Given the description of an element on the screen output the (x, y) to click on. 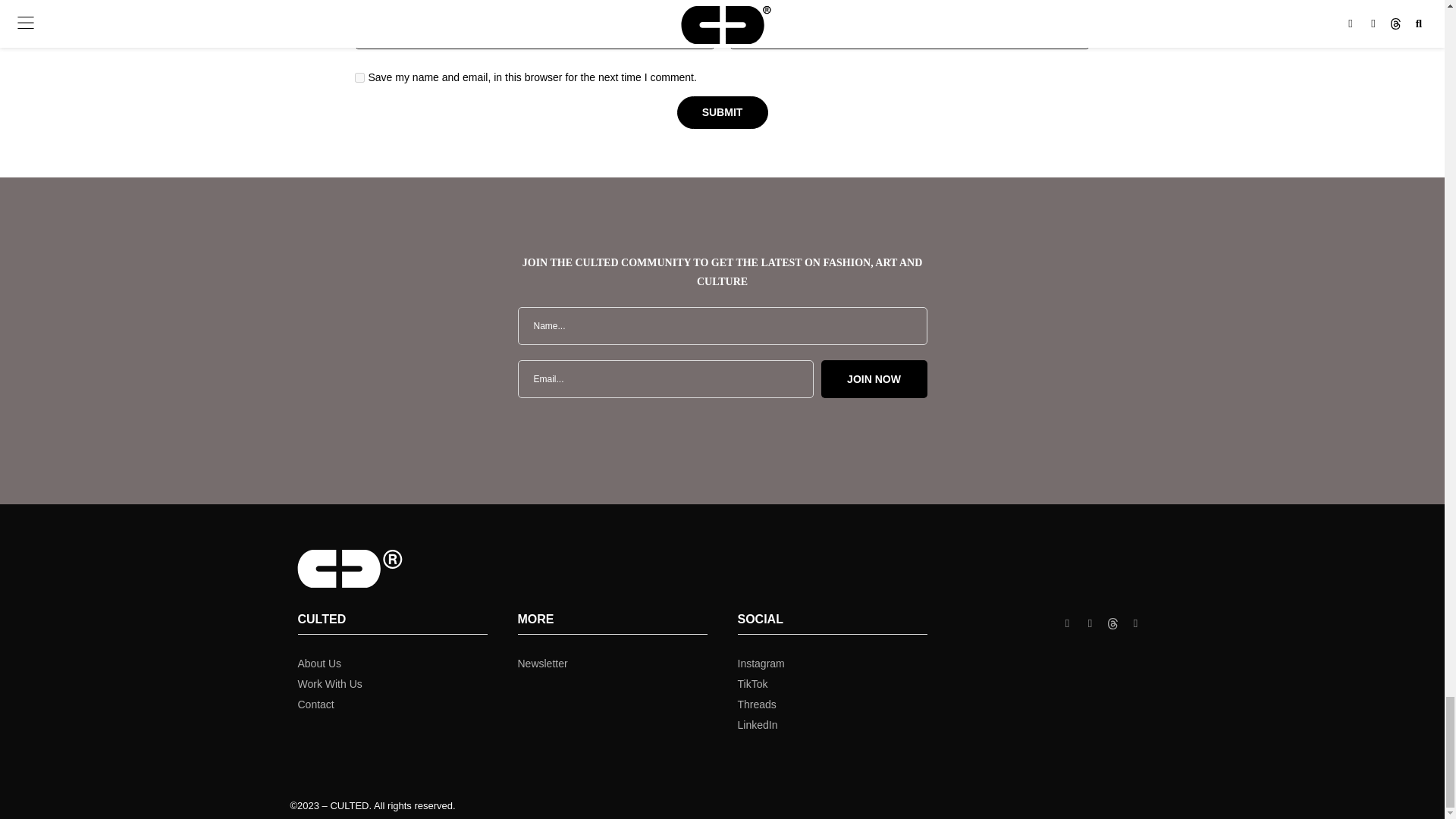
yes (360, 77)
JOIN NOW (873, 379)
Submit (722, 112)
